Given the description of an element on the screen output the (x, y) to click on. 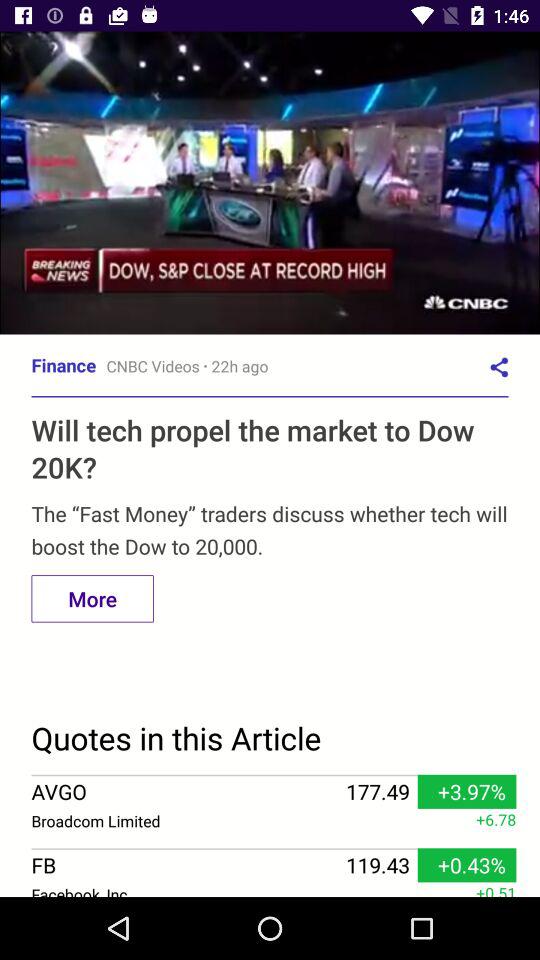
select the option more (92, 599)
